Given the description of an element on the screen output the (x, y) to click on. 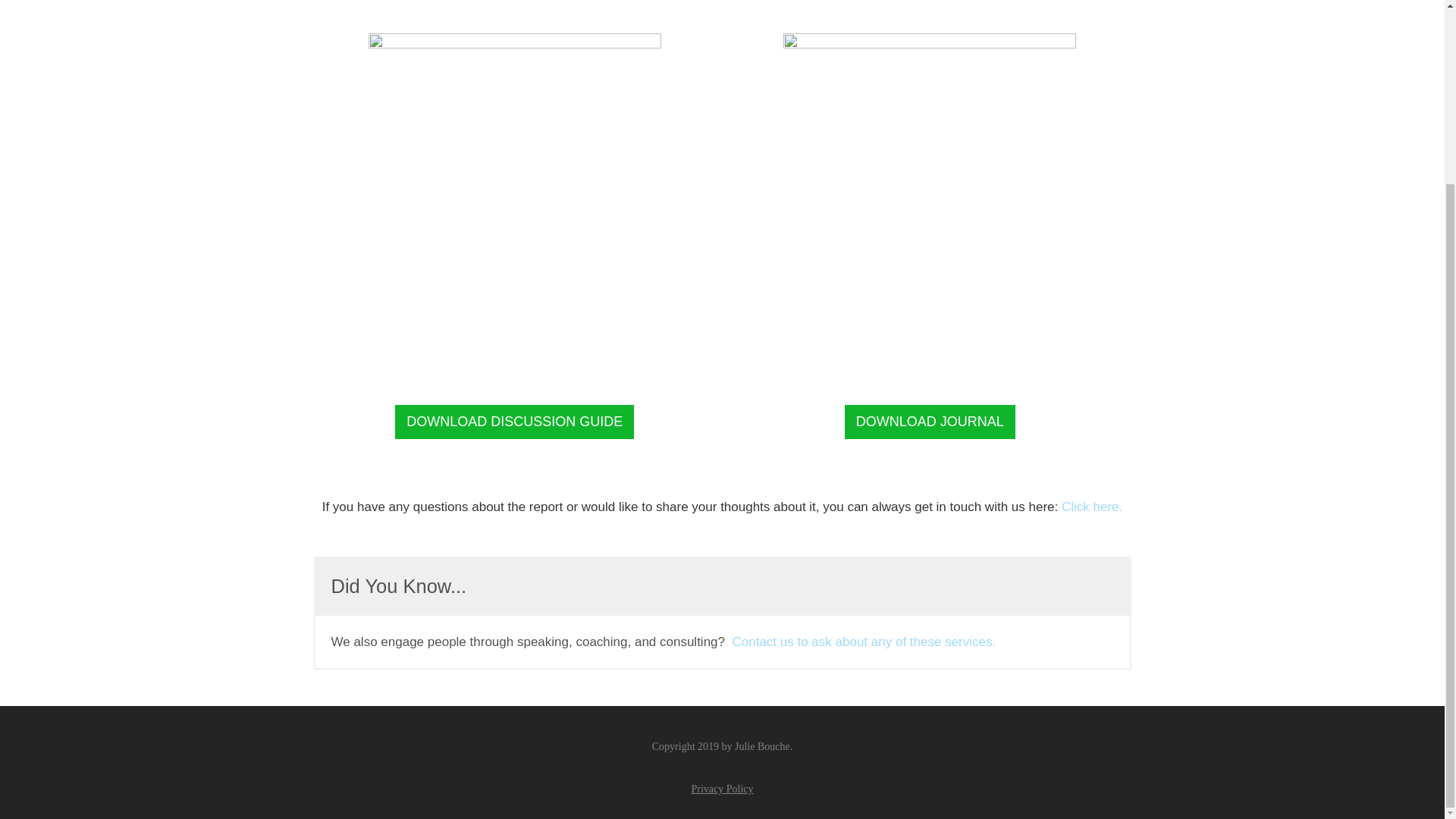
Click here. (1091, 506)
Privacy Policy (721, 788)
DOWNLOAD JOURNAL (929, 421)
DOWNLOAD DISCUSSION GUIDE (513, 421)
Contact us to ask about any of these services. (863, 641)
